Given the description of an element on the screen output the (x, y) to click on. 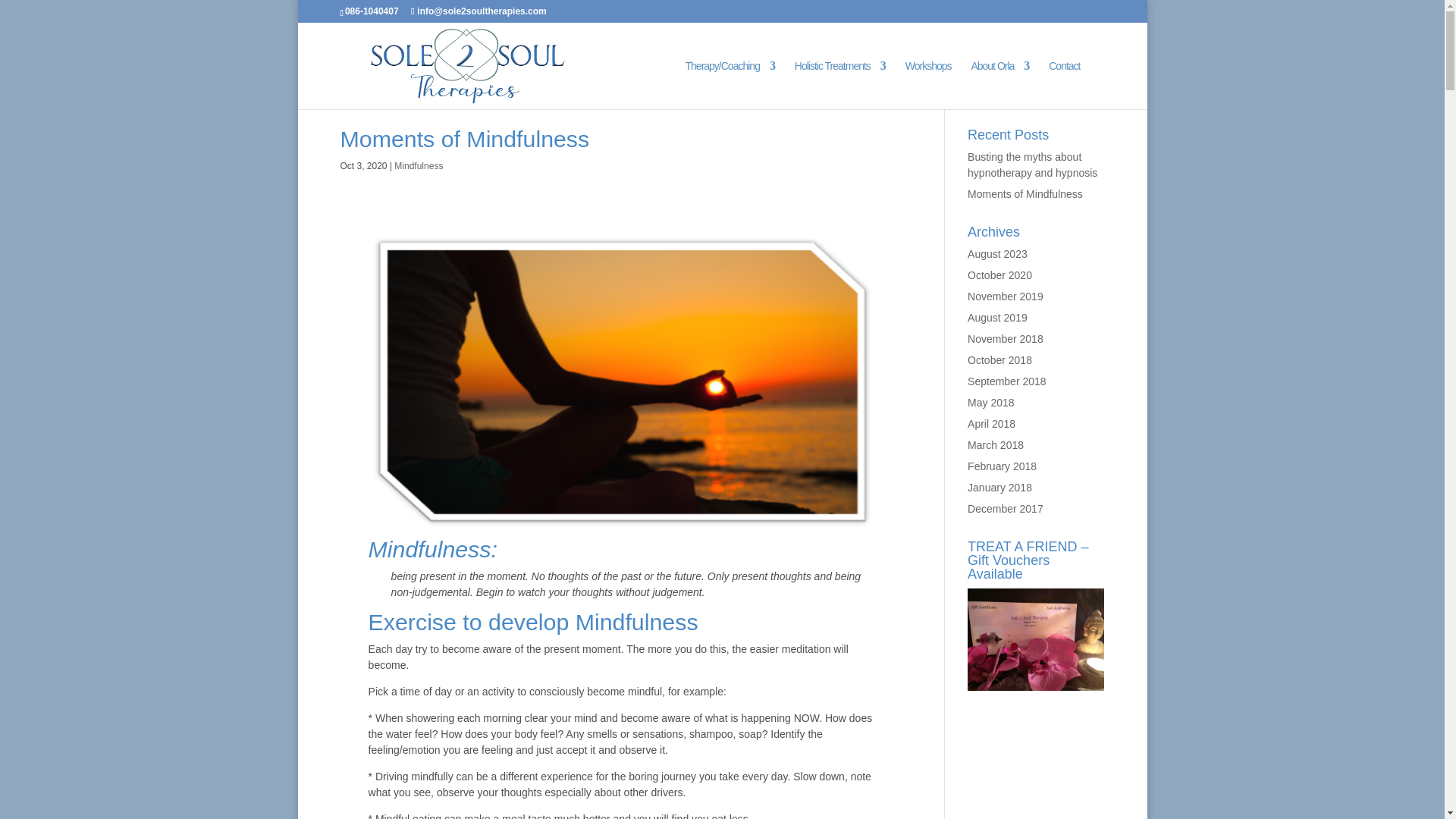
Mindfulness (418, 165)
Moments of Mindfulness (464, 138)
Workshops (928, 84)
About Orla (1000, 84)
October 2020 (1000, 275)
Busting the myths about hypnotherapy and hypnosis (1032, 164)
Holistic Treatments (839, 84)
August 2023 (997, 254)
Moments of Mindfulness (1025, 193)
